Given the description of an element on the screen output the (x, y) to click on. 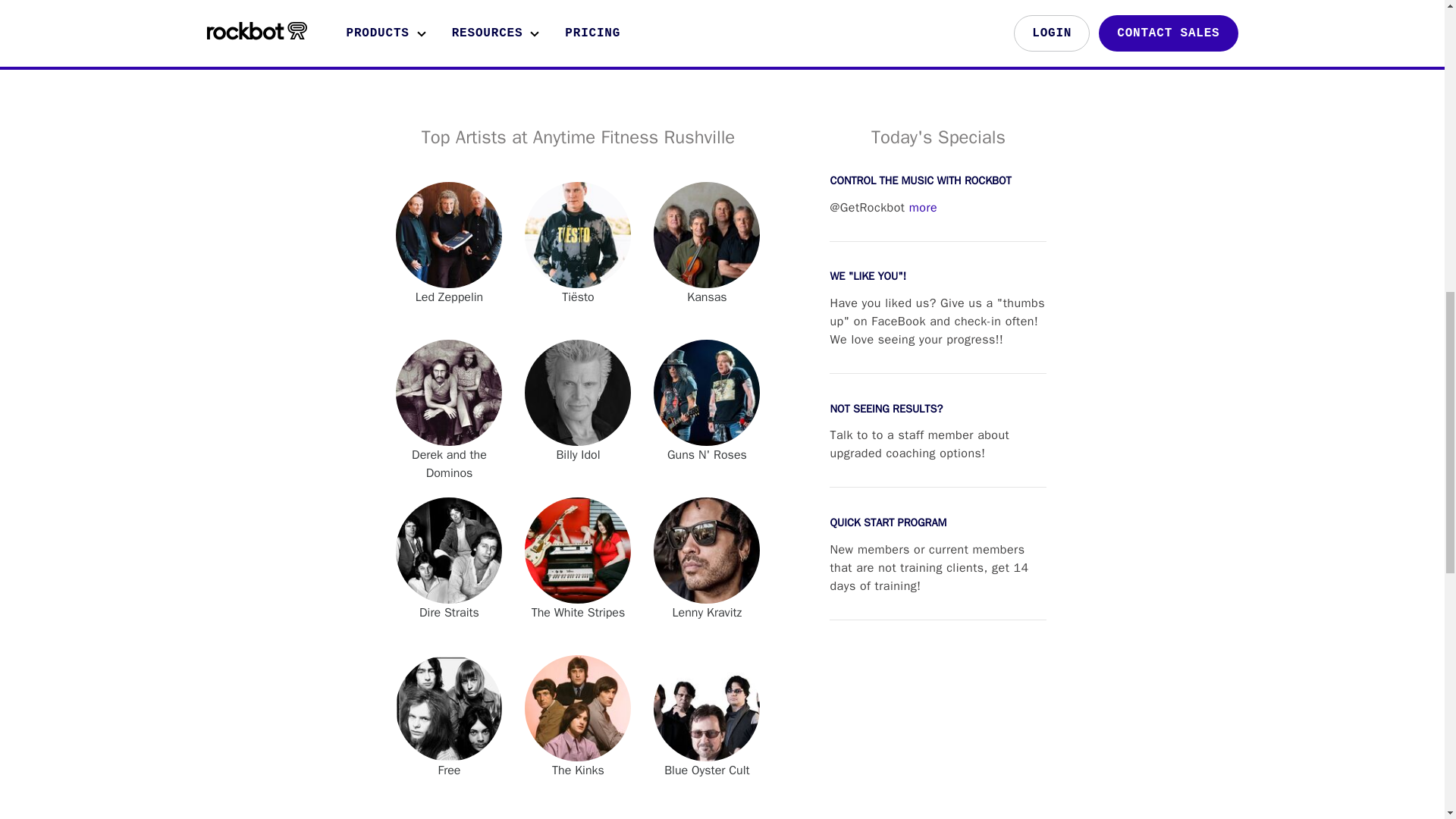
preview soundtrack (722, 15)
more (922, 207)
